Given the description of an element on the screen output the (x, y) to click on. 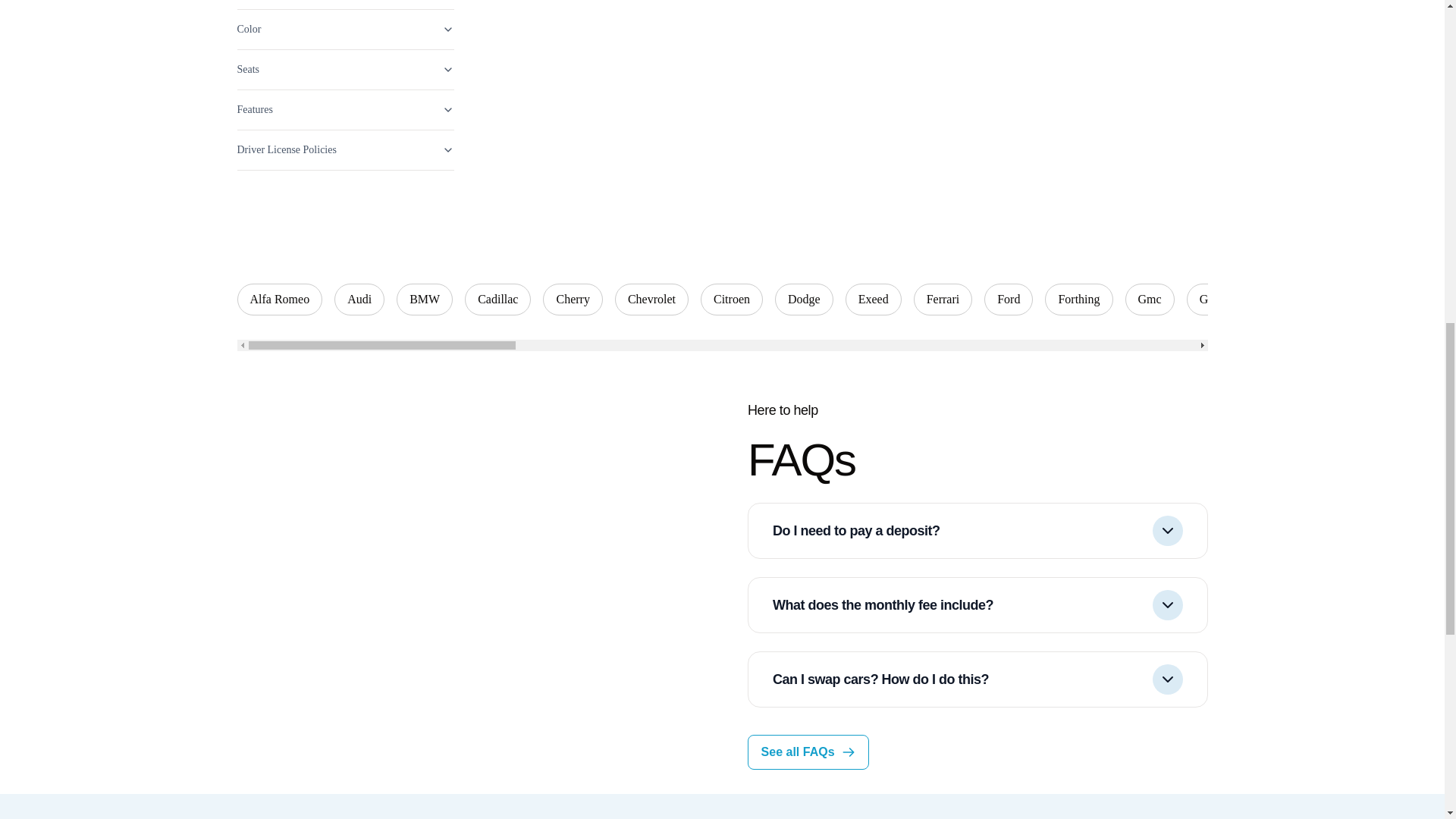
Seats (343, 69)
Audi (359, 299)
BMW (424, 299)
Features (343, 110)
Color (343, 29)
Alfa Romeo (278, 299)
Cadillac (497, 299)
Cherry (572, 299)
Driver License Policies (343, 150)
Chevrolet (651, 299)
